Given the description of an element on the screen output the (x, y) to click on. 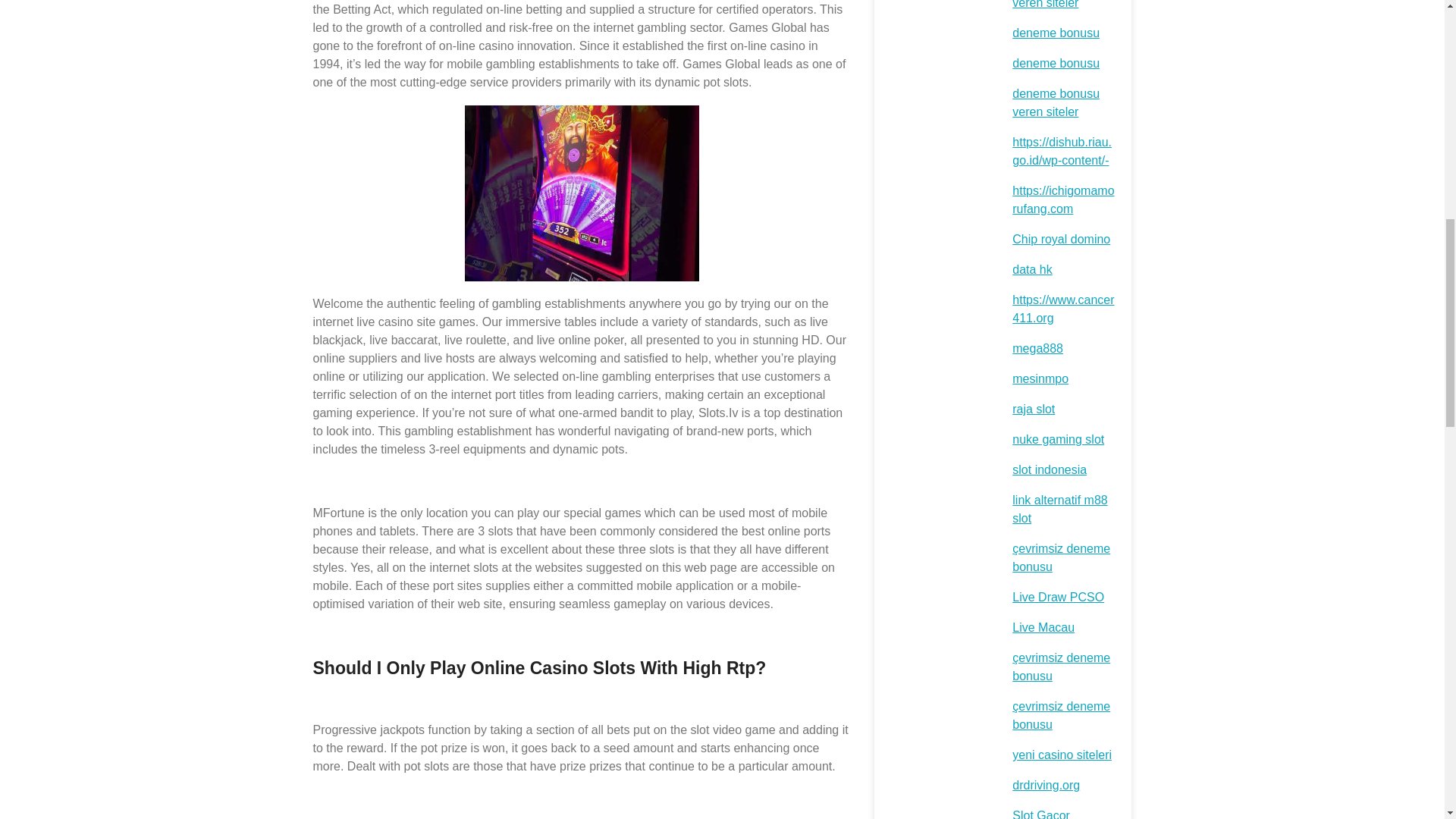
Live Macau (1042, 626)
mesinmpo (1039, 378)
Slot Gacor (1040, 814)
slot indonesia (1048, 469)
raja slot (1032, 408)
deneme bonusu (1055, 32)
deneme bonusu veren siteler (1055, 4)
yeni casino siteleri (1061, 754)
data hk (1031, 269)
mega888 (1036, 348)
